Given the description of an element on the screen output the (x, y) to click on. 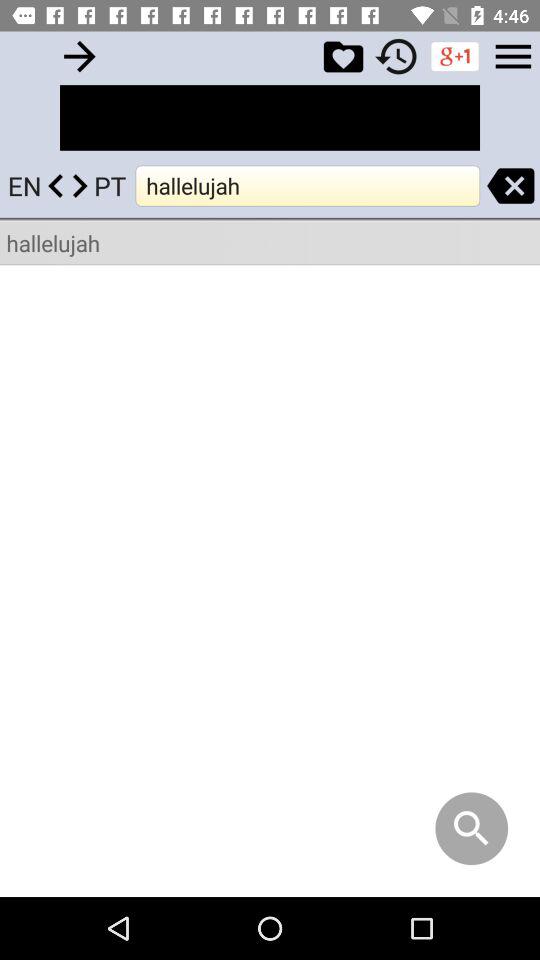
backspace (510, 185)
